Given the description of an element on the screen output the (x, y) to click on. 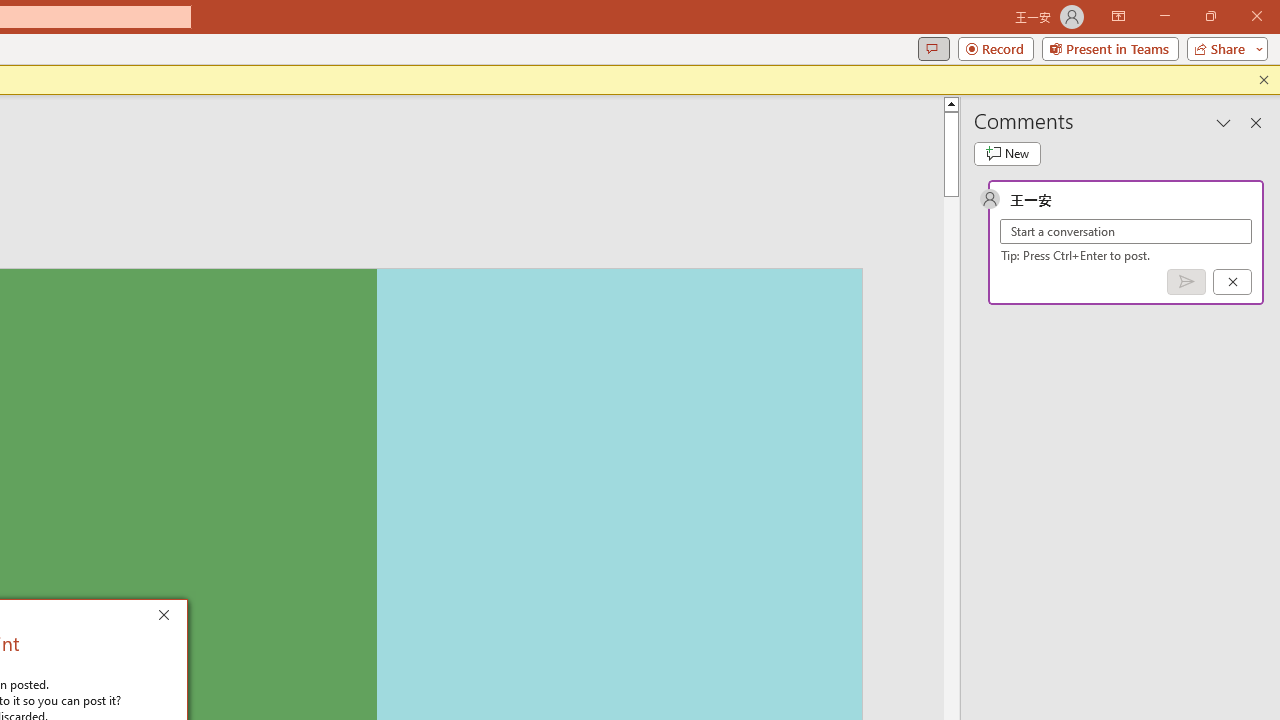
Close this message (1263, 80)
New comment (1007, 153)
Post comment (Ctrl + Enter) (1186, 282)
Start a conversation (1126, 231)
